Given the description of an element on the screen output the (x, y) to click on. 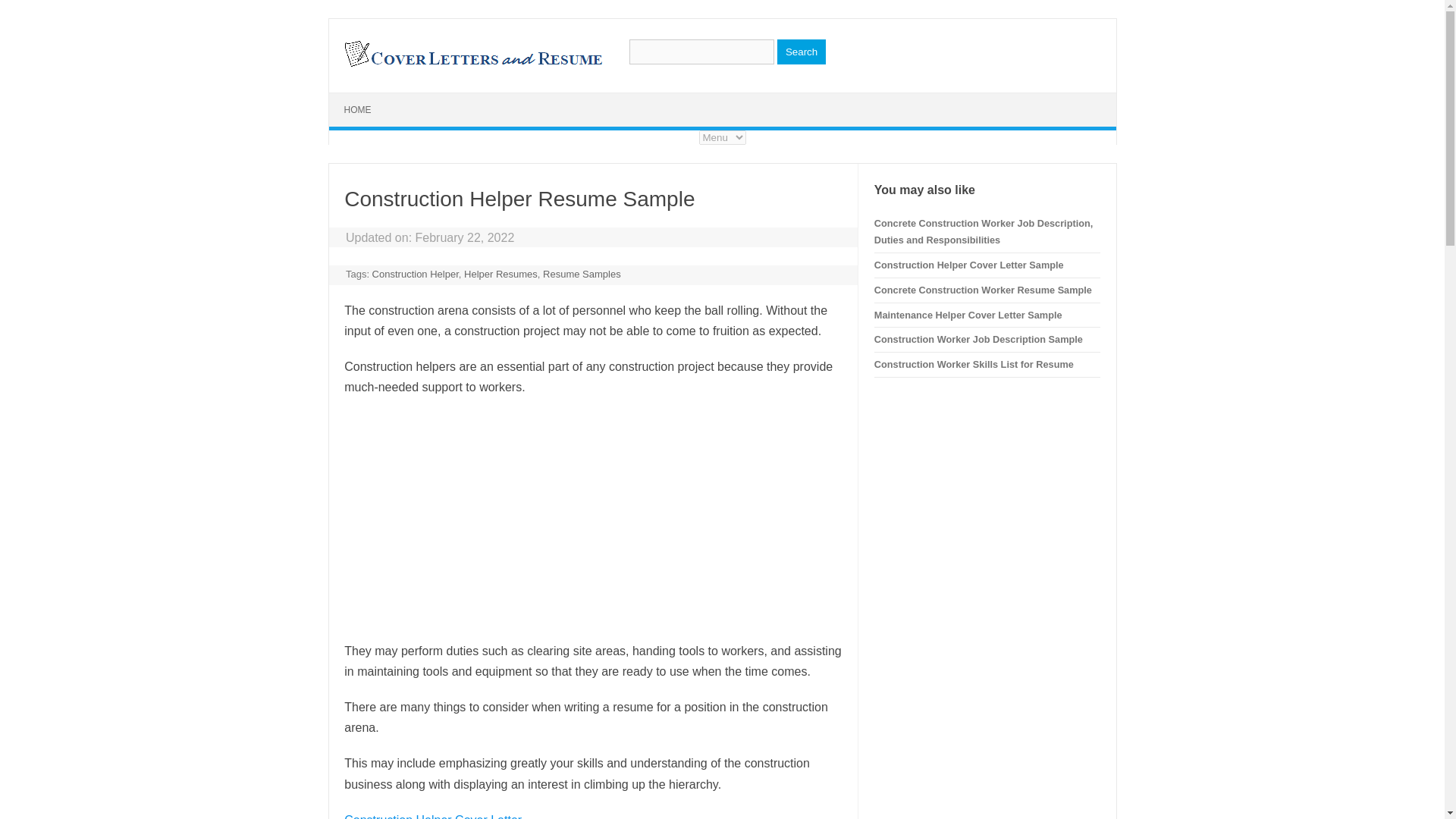
Resume Samples (582, 274)
Helper Resumes (500, 274)
Construction Worker Skills List for Resume (974, 364)
Search (801, 51)
Concrete Construction Worker Resume Sample (983, 289)
Advertisement (592, 519)
HOME (358, 109)
Construction Worker Job Description Sample (979, 338)
Cover Letters and Resume Samples (471, 65)
Construction Helper Cover Letter (432, 816)
